Given the description of an element on the screen output the (x, y) to click on. 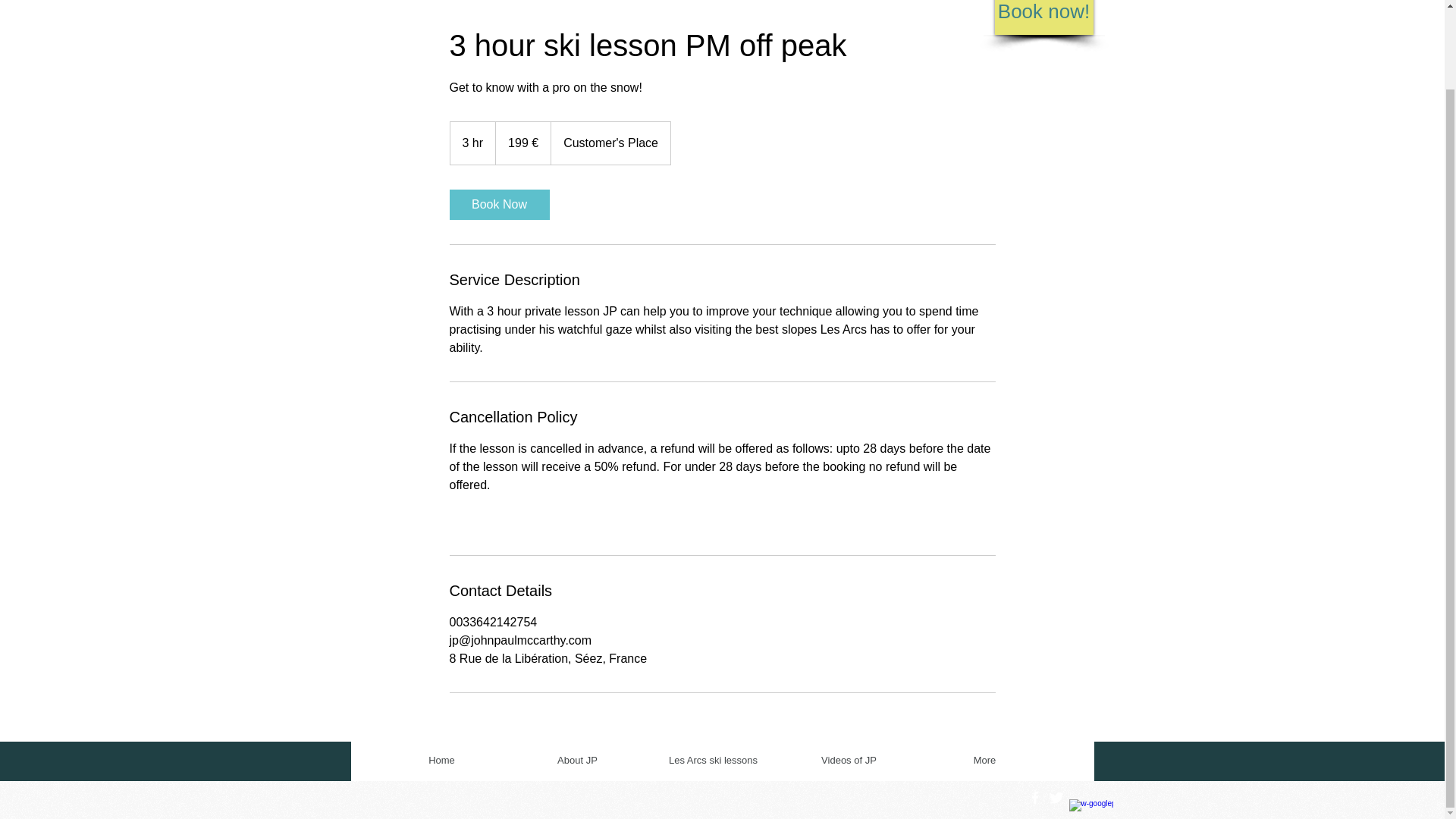
Les Arcs ski lessons (712, 760)
Book Now (498, 204)
Home (441, 760)
Book now! (1043, 17)
About JP (577, 760)
Videos of JP (848, 760)
